Given the description of an element on the screen output the (x, y) to click on. 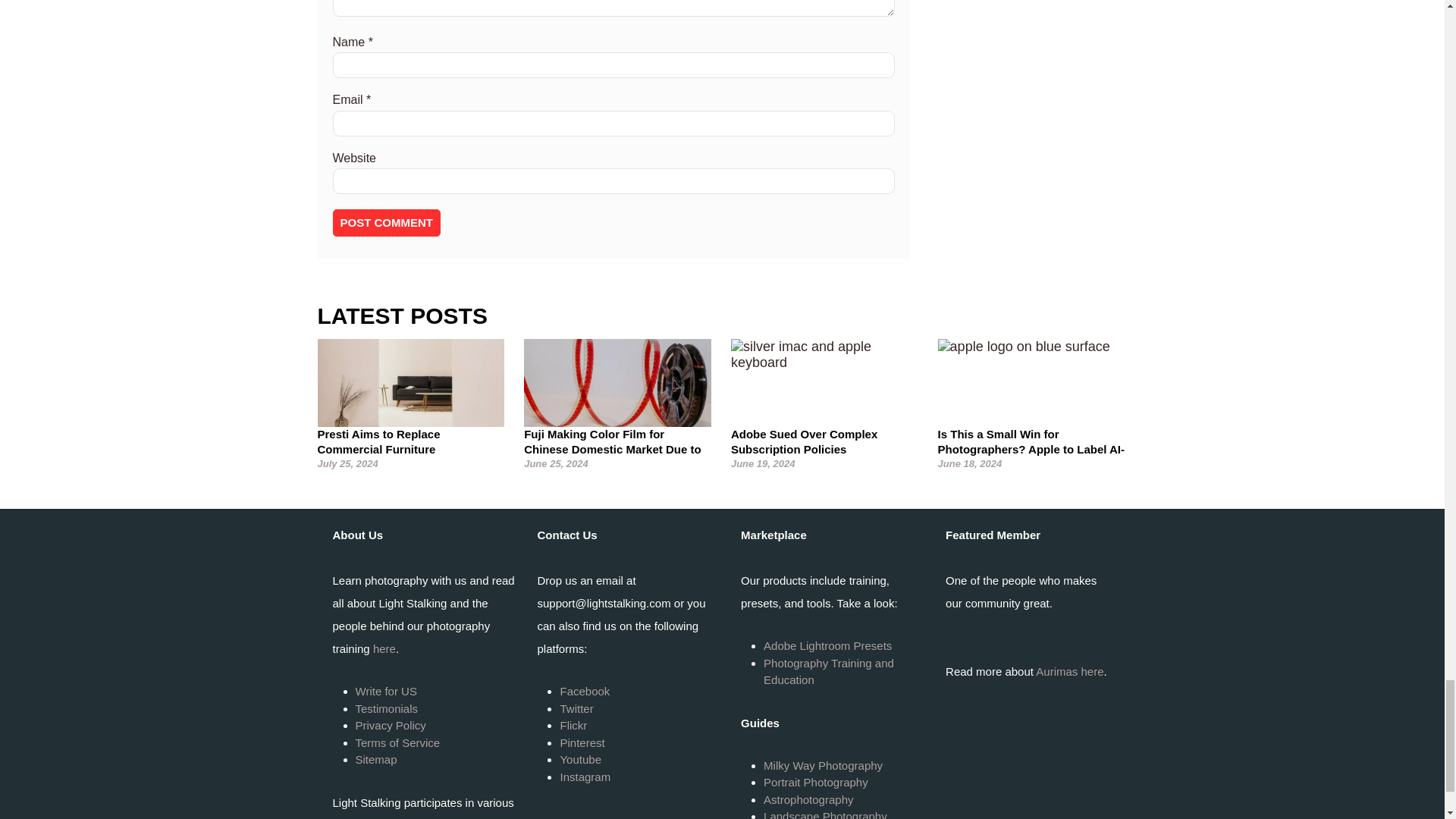
Post Comment (386, 222)
